Given the description of an element on the screen output the (x, y) to click on. 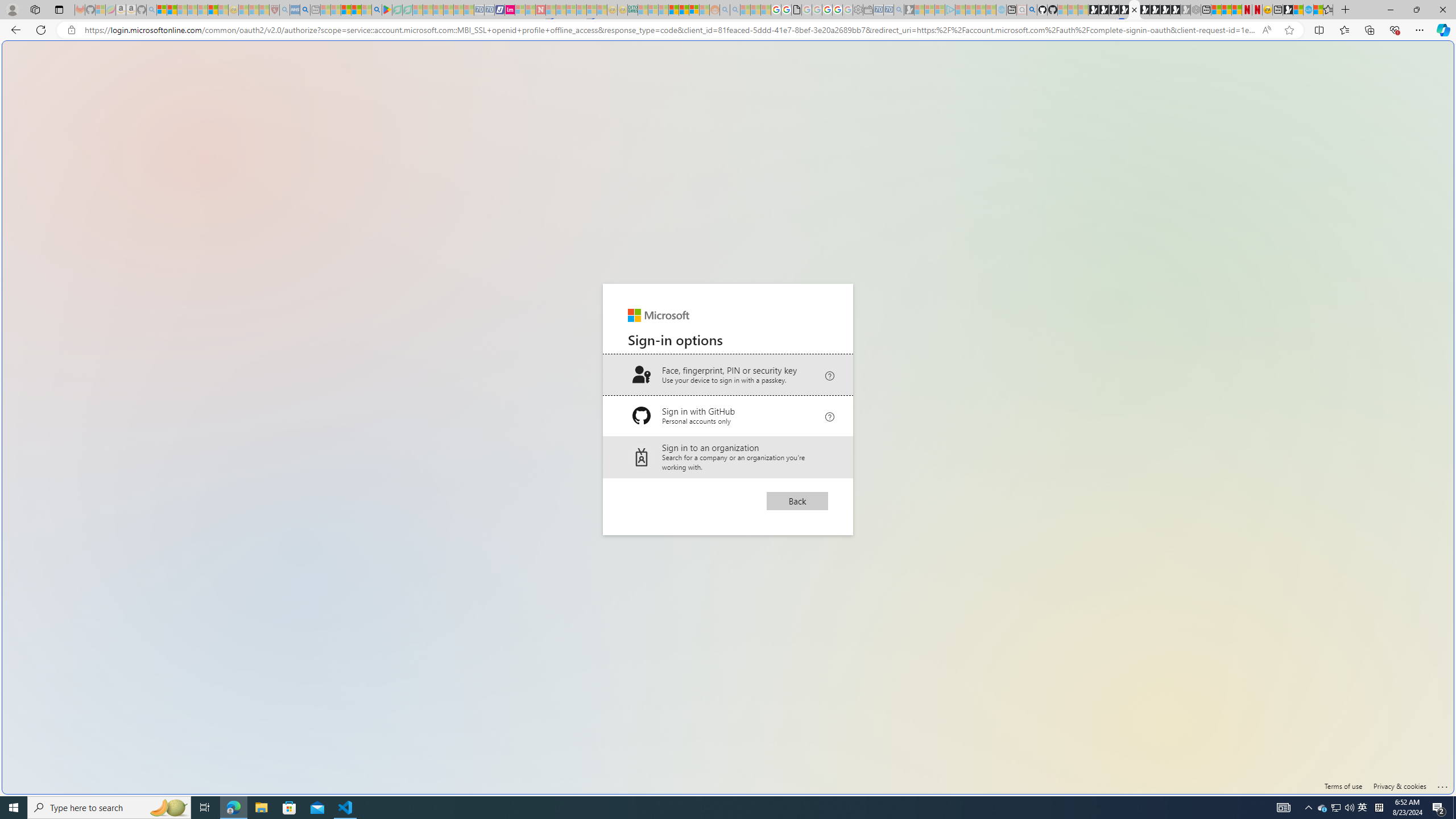
Organization background image (727, 416)
Terms of use (1342, 786)
Expert Portfolios (673, 9)
